Given the description of an element on the screen output the (x, y) to click on. 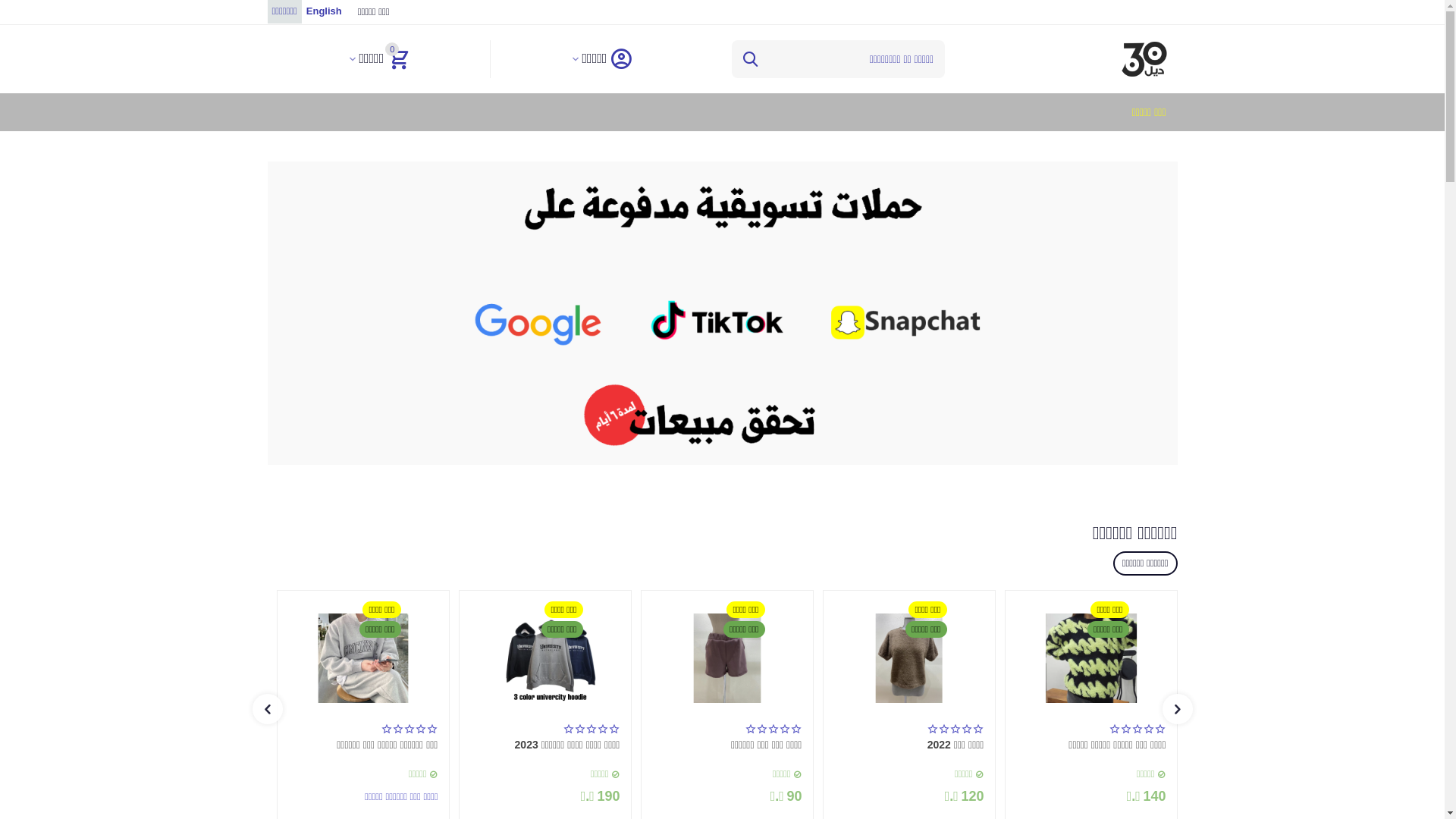
English Element type: text (323, 11)
